Given the description of an element on the screen output the (x, y) to click on. 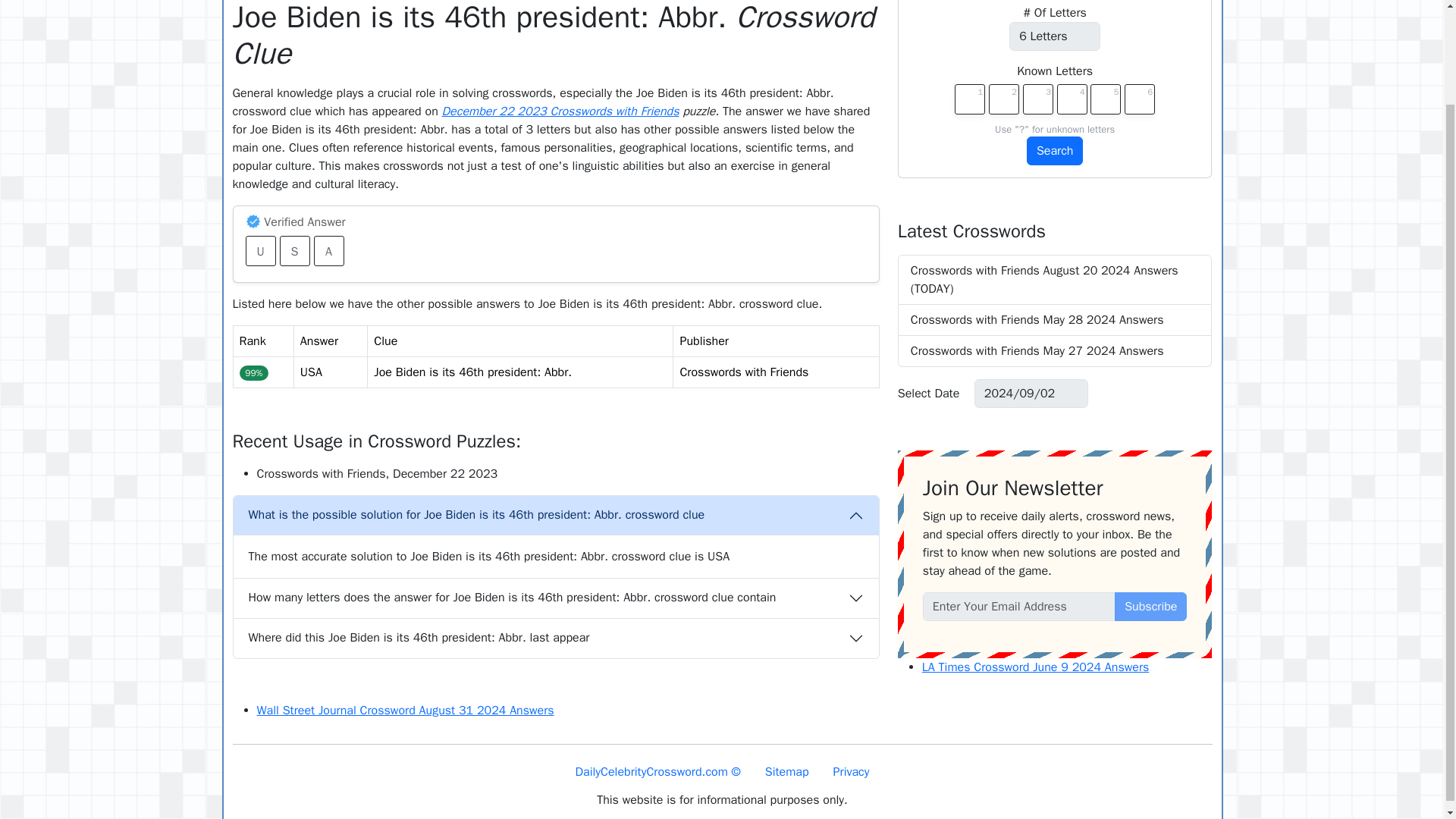
Privacy (851, 771)
December 22 2023 Crosswords with Friends (560, 111)
Subscribe (1150, 606)
Search (1054, 150)
LA Times Crossword June 9 2024 Answers (1035, 667)
Subscribe (1150, 606)
2024-09-02 (1030, 393)
